Given the description of an element on the screen output the (x, y) to click on. 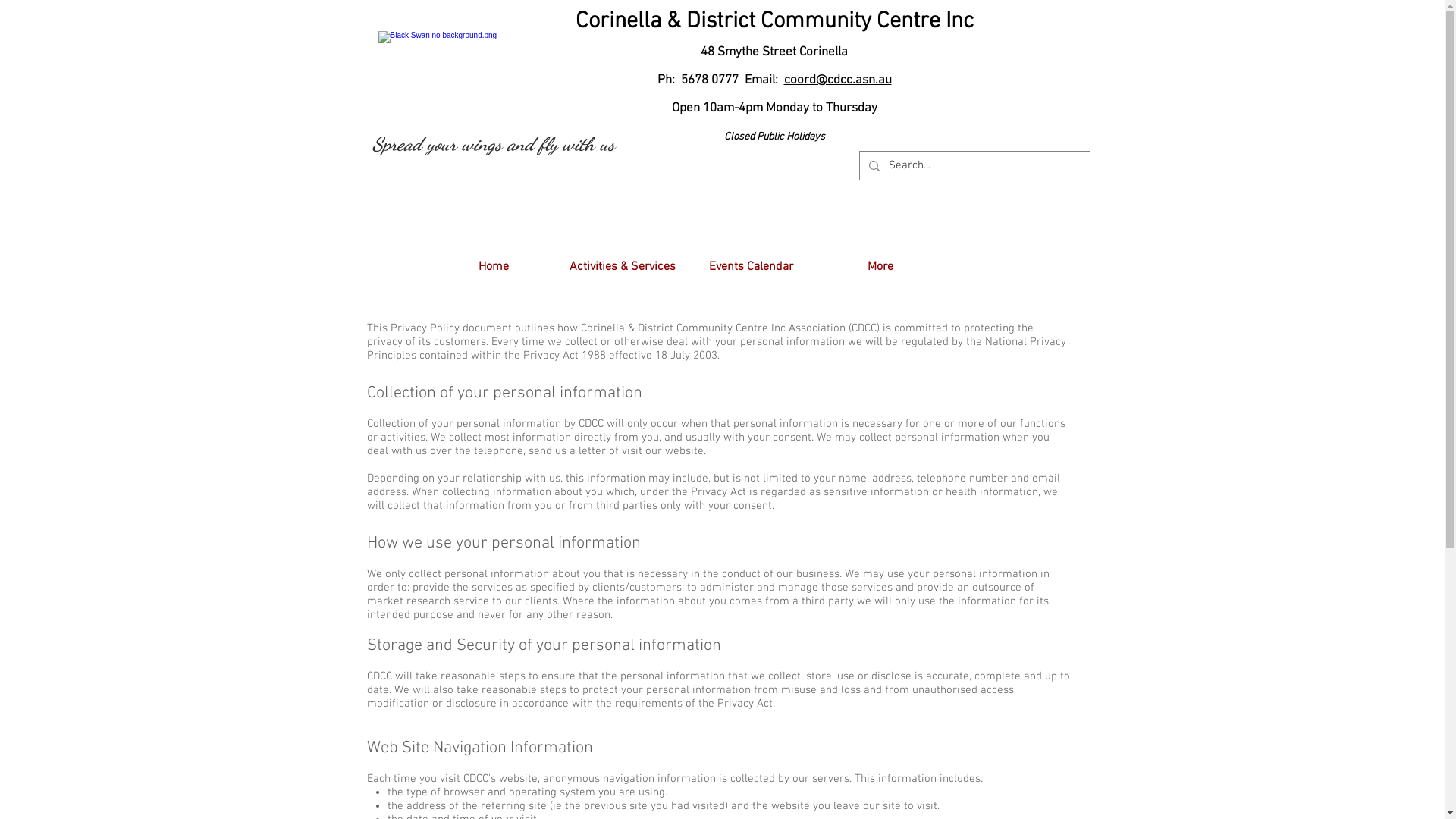
Events Calendar Element type: text (751, 267)
coord@cdcc.asn.au Element type: text (837, 79)
Home Element type: text (493, 267)
Centre Logo - Click to go Home Element type: hover (458, 78)
Activities & Services Element type: text (622, 267)
